Given the description of an element on the screen output the (x, y) to click on. 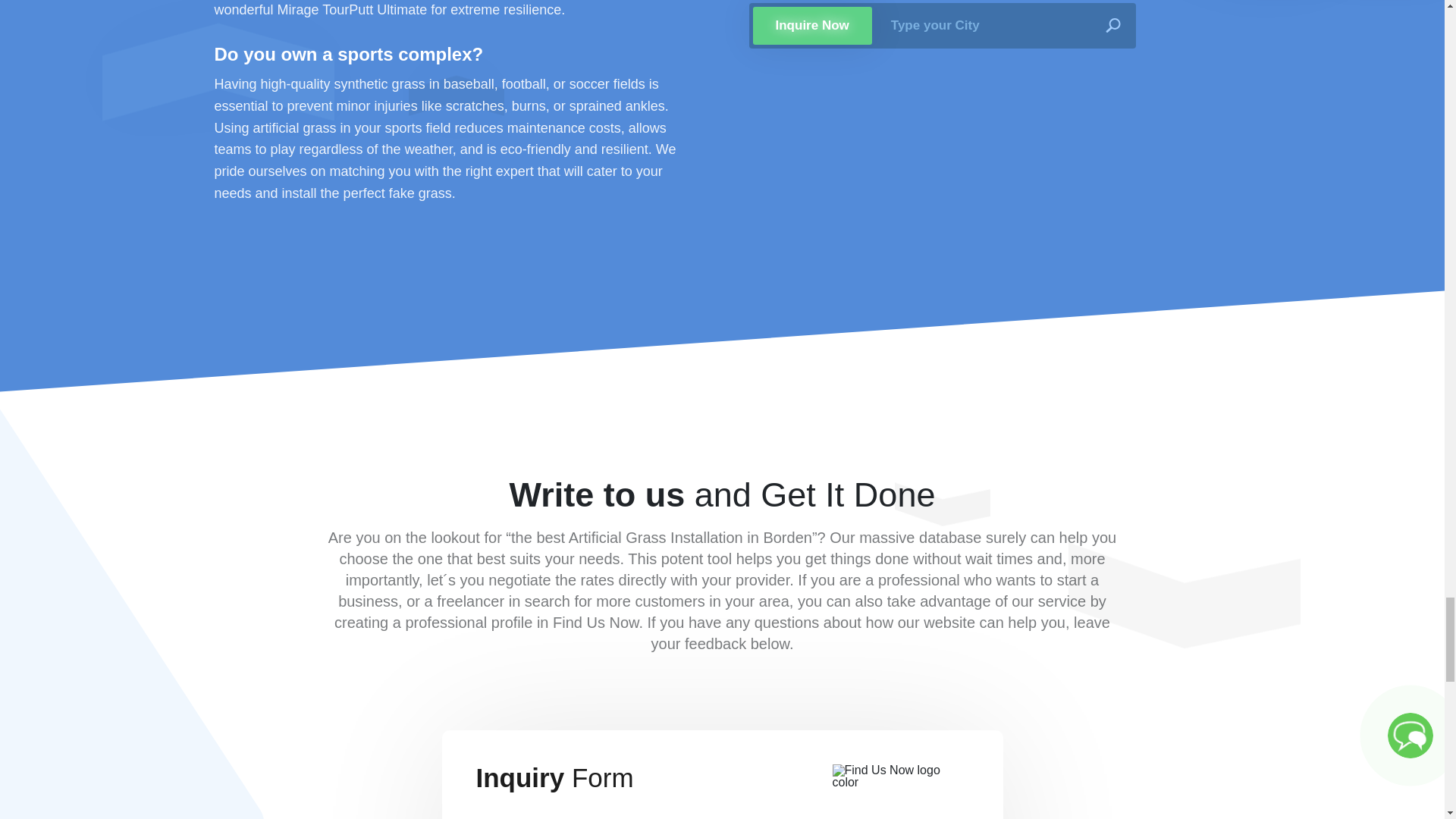
Inquire Now (811, 25)
